Given the description of an element on the screen output the (x, y) to click on. 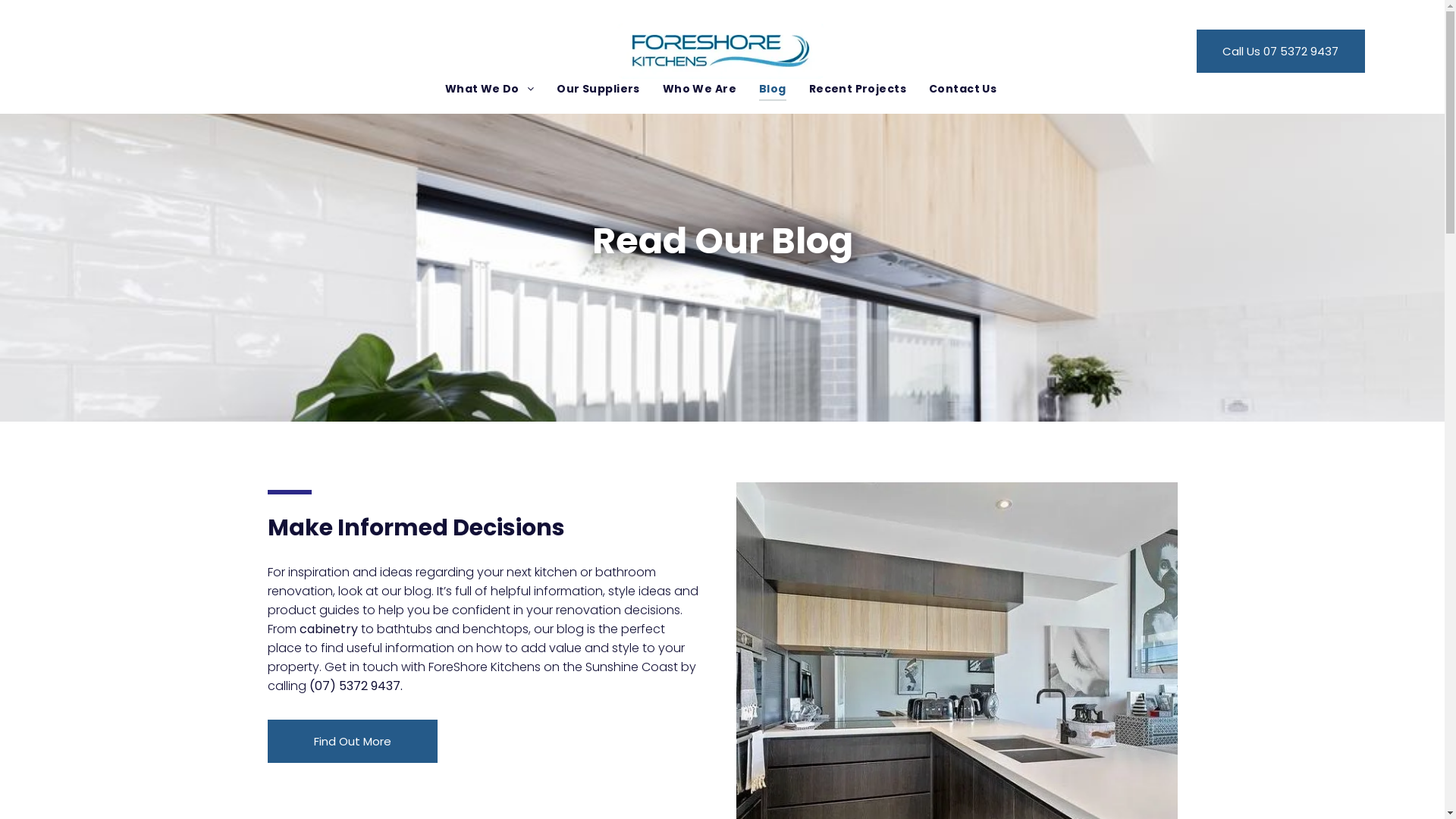
bathroom Element type: text (624, 571)
Recent Projects Element type: text (857, 88)
Our Suppliers Element type: text (597, 88)
Contact Us Element type: text (962, 88)
(07) 5372 9437. Element type: text (355, 685)
Find Out More Element type: text (351, 740)
Who We Are Element type: text (699, 88)
What We Do Element type: text (489, 88)
cabinetry Element type: text (327, 628)
kitchen Element type: text (554, 571)
Call Us 07 5372 9437 Element type: text (1280, 50)
Blog Element type: text (772, 88)
